Given the description of an element on the screen output the (x, y) to click on. 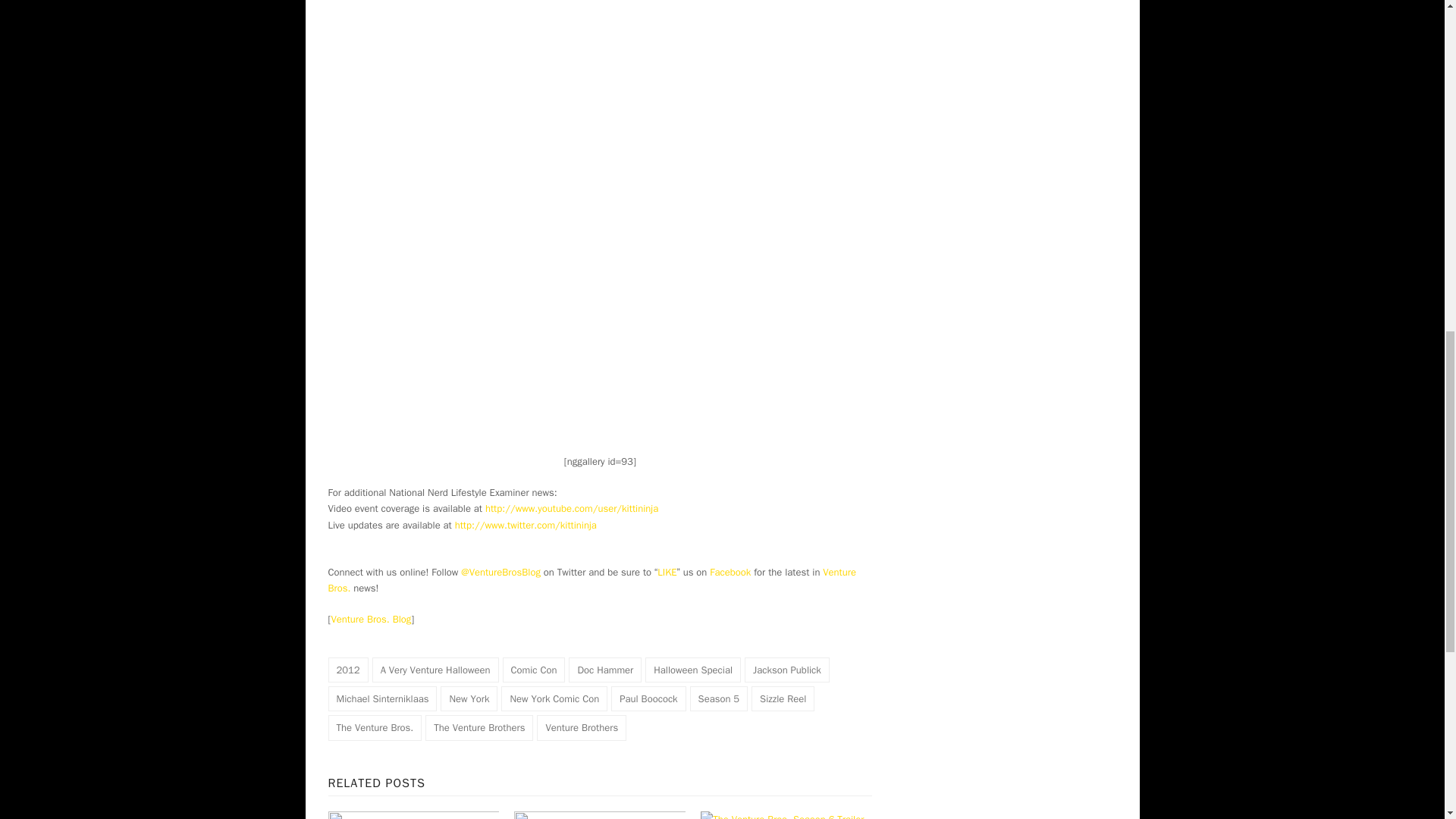
Michael Sinterniklaas (381, 698)
Comic Con (533, 669)
New York (469, 698)
Venture Bros. Blog (370, 618)
Jackson Publick (786, 669)
Doc Hammer (605, 669)
A Very Venture Halloween (435, 669)
Venture Bros. (591, 579)
LIKE (667, 571)
Halloween Special (693, 669)
